Given the description of an element on the screen output the (x, y) to click on. 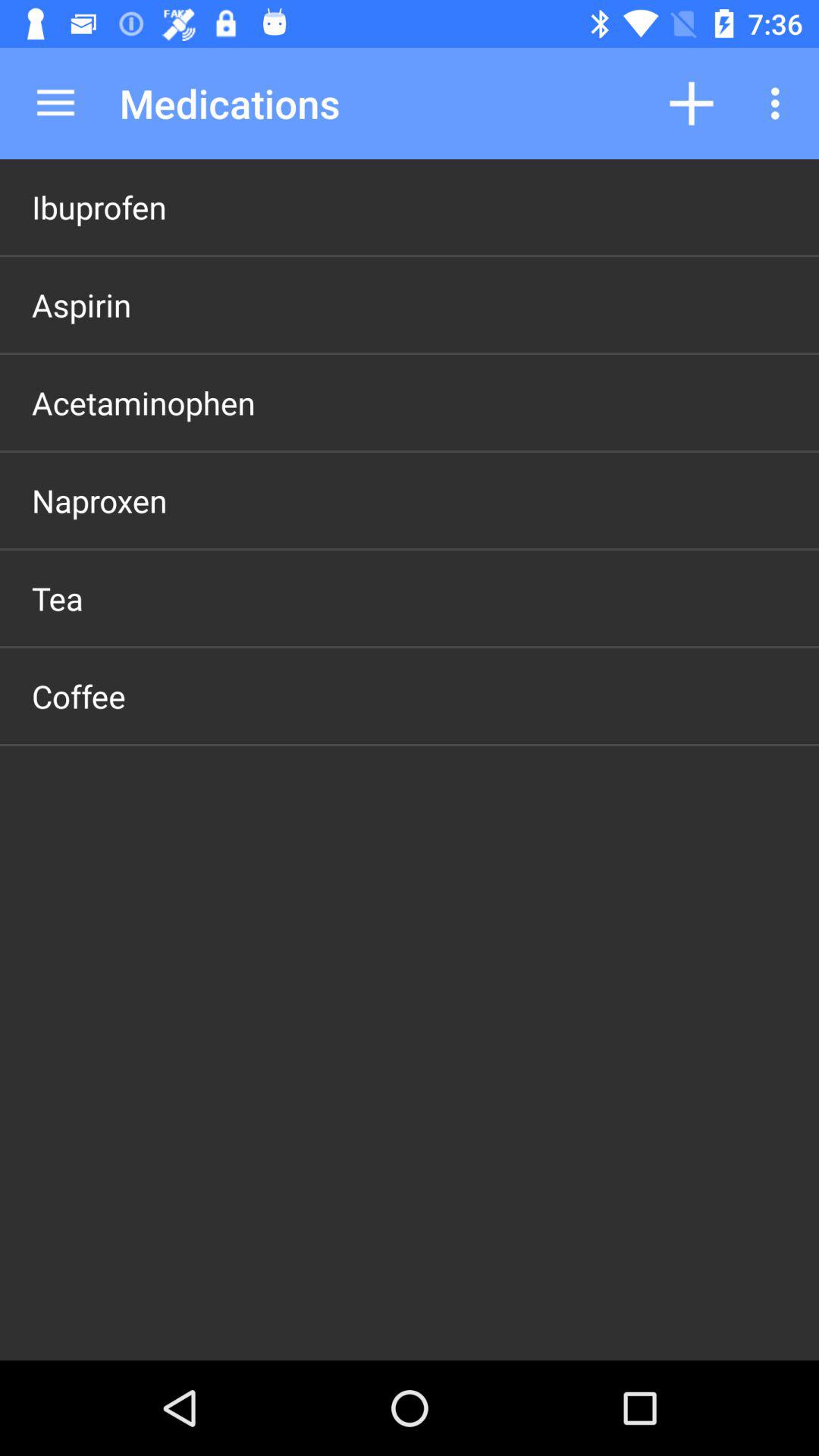
open the ibuprofen (99, 206)
